Given the description of an element on the screen output the (x, y) to click on. 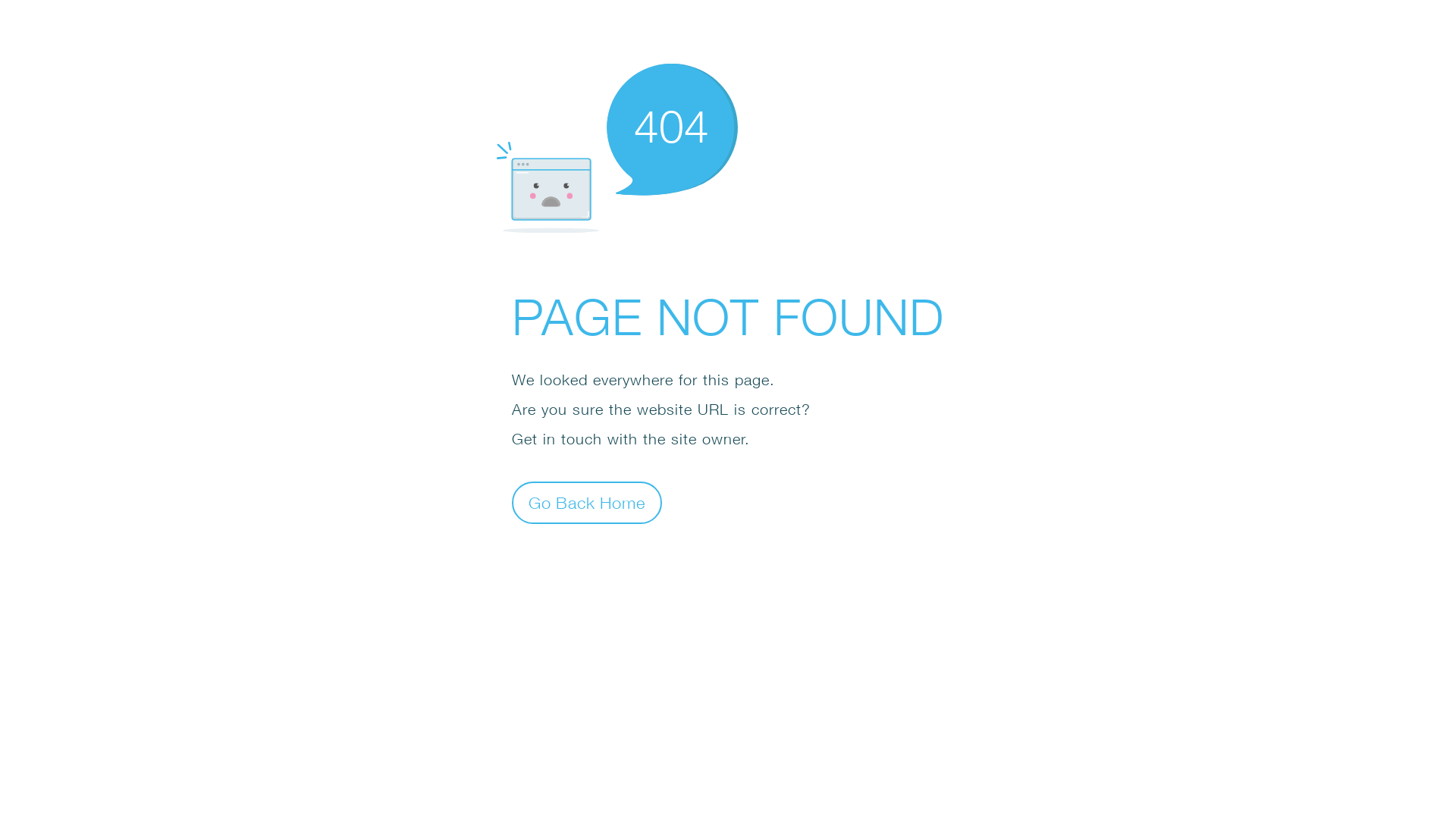
Go Back Home Element type: text (586, 502)
